Given the description of an element on the screen output the (x, y) to click on. 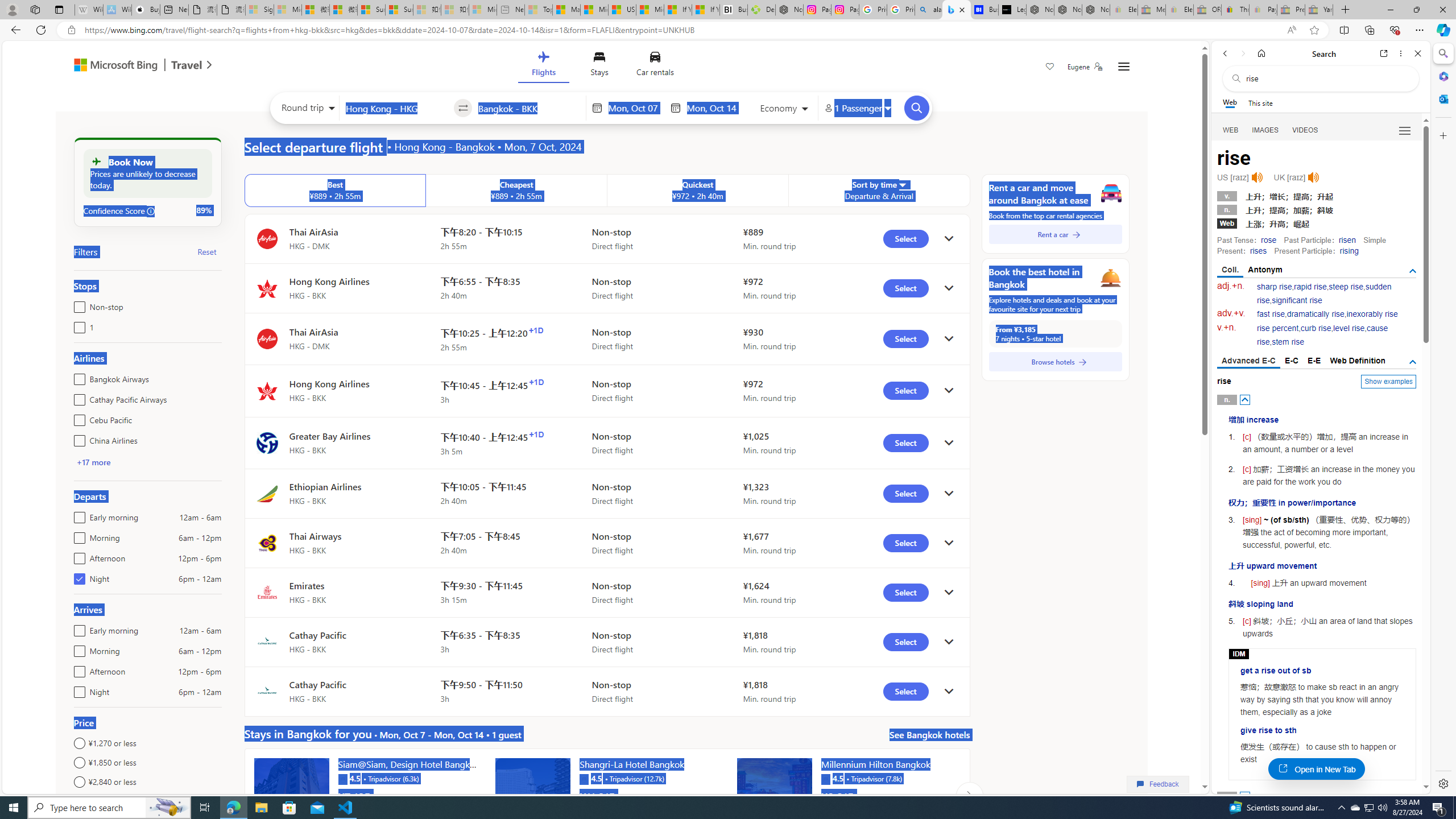
Class: autosuggest-container full-height no-y-padding (528, 107)
Start Date (636, 107)
Leaving from? (396, 107)
Microsoft Bing Travel (130, 65)
sharp rise (1274, 286)
